Given the description of an element on the screen output the (x, y) to click on. 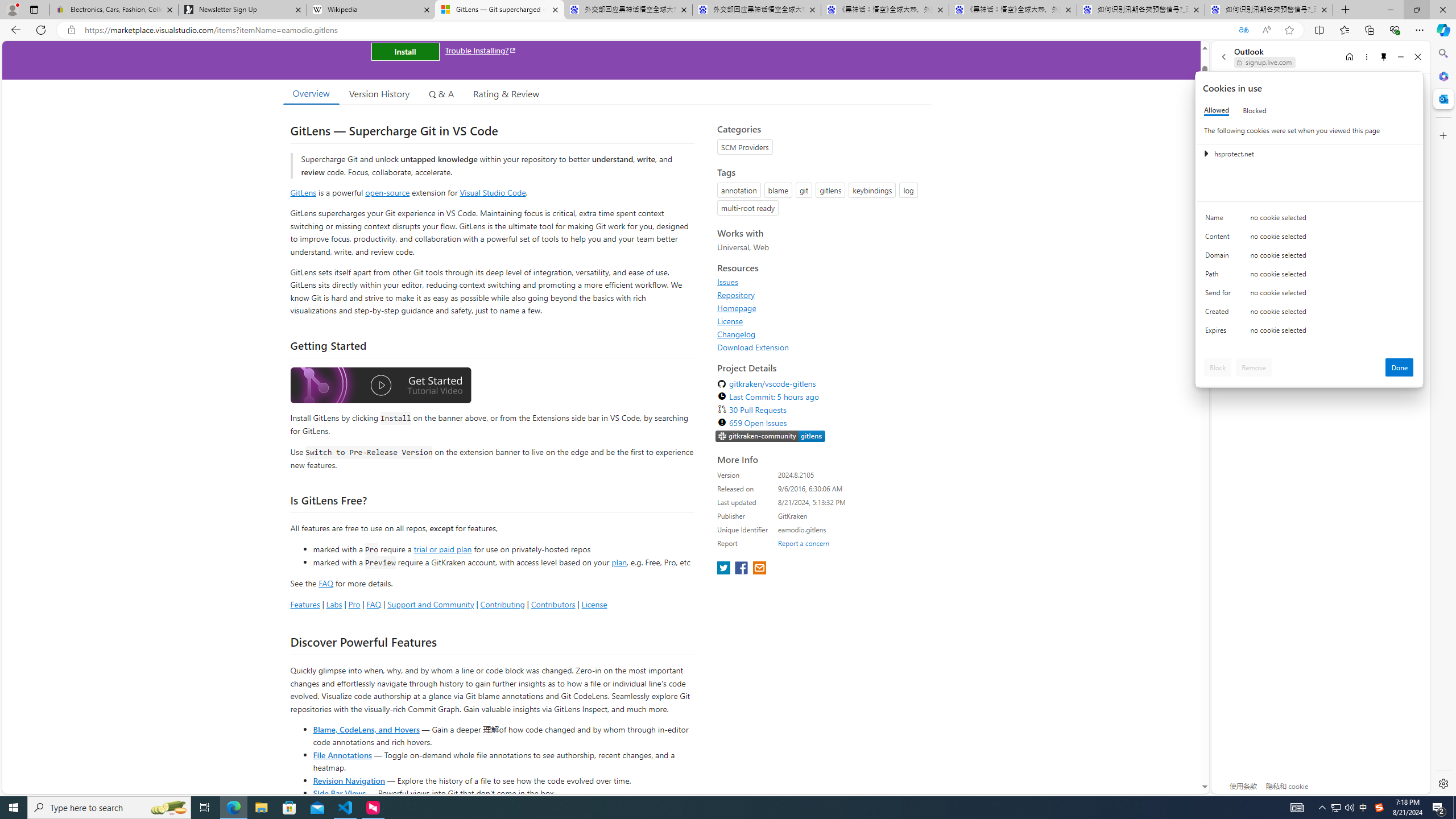
Class: c0153 c0157 (1309, 332)
Allowed (1216, 110)
Block (1217, 367)
Created (1219, 313)
Expires (1219, 332)
Send for (1219, 295)
Class: c0153 c0157 c0154 (1309, 220)
Blocked (1255, 110)
Done (1399, 367)
Remove (1253, 367)
Domain (1219, 257)
no cookie selected (1331, 332)
Path (1219, 276)
Name (1219, 220)
Content (1219, 239)
